Given the description of an element on the screen output the (x, y) to click on. 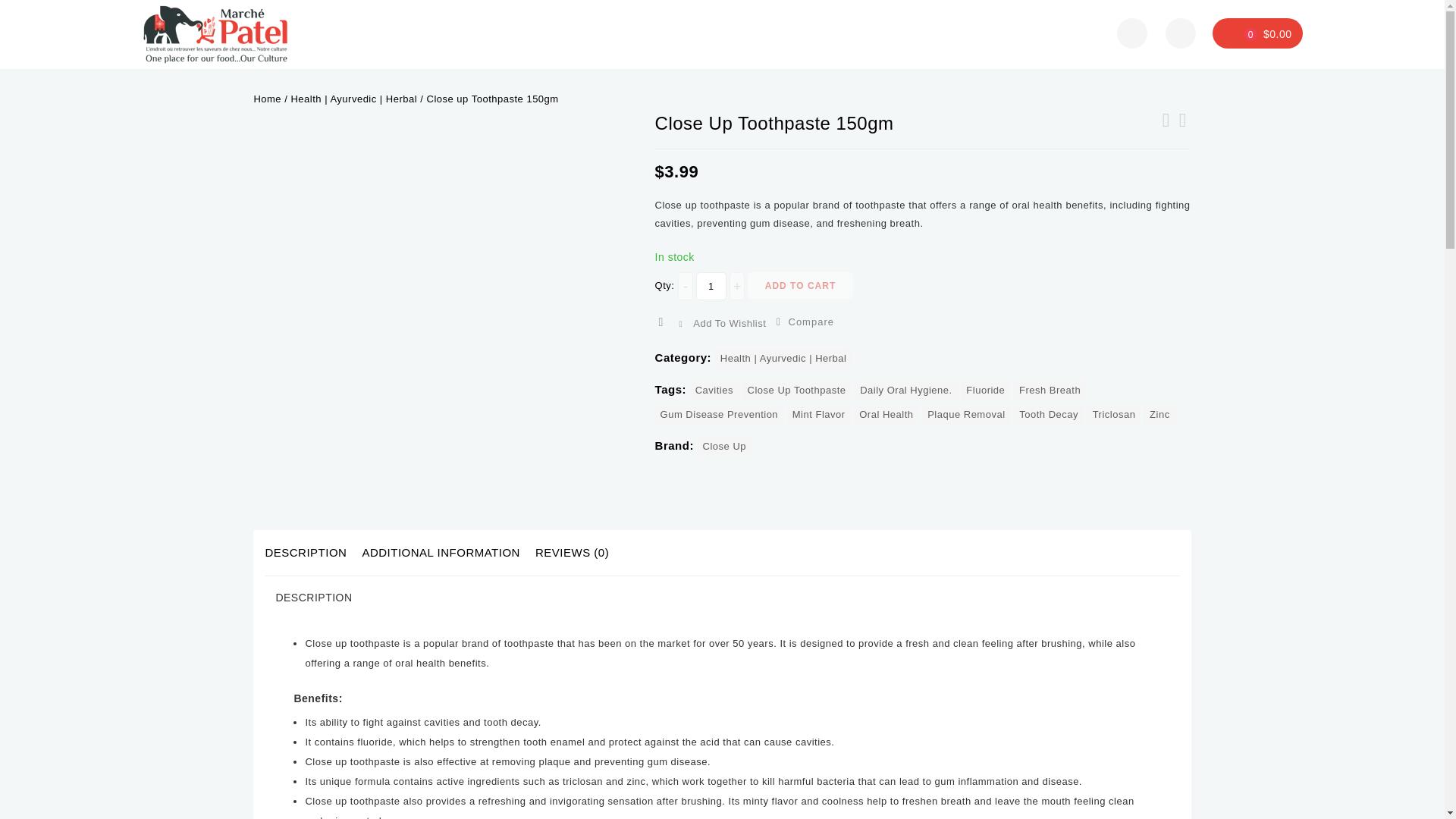
Brands (615, 33)
Home (459, 33)
Sale (729, 33)
My Account (799, 33)
Blog (947, 33)
All Products (536, 33)
About Us (884, 33)
Qty (710, 285)
1 (710, 285)
FAQs (676, 33)
